Given the description of an element on the screen output the (x, y) to click on. 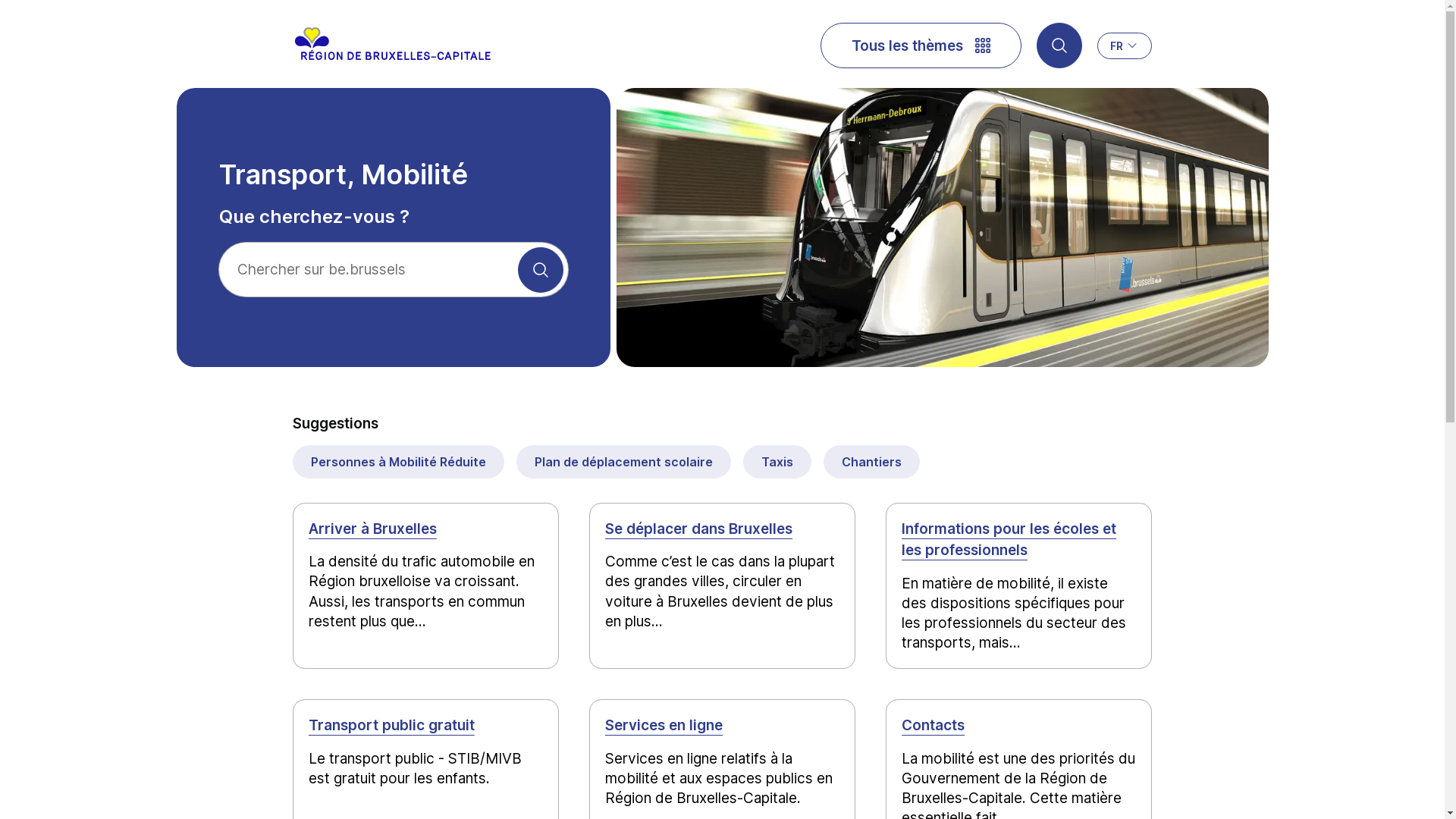
Taxis Element type: text (777, 461)
Chantiers Element type: text (871, 461)
FR Element type: text (1124, 44)
